Given the description of an element on the screen output the (x, y) to click on. 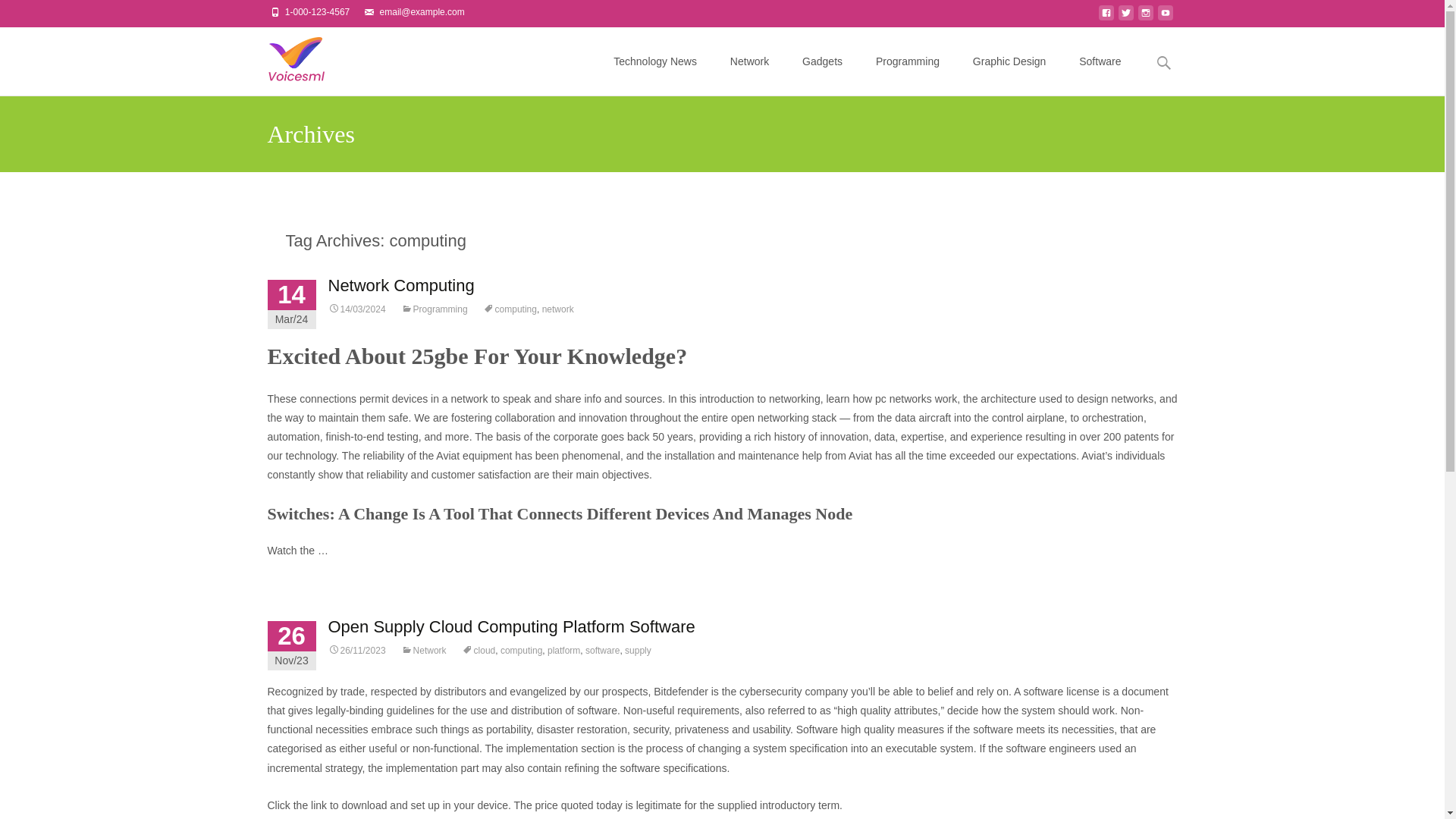
Search for: (1163, 62)
Network Computing (400, 285)
Search (18, 14)
Graphic Design (1009, 61)
software (602, 650)
network (557, 308)
cloud (478, 650)
Open Supply Cloud Computing Platform Software (510, 626)
supply (637, 650)
platform (563, 650)
Technology News (654, 61)
computing (520, 650)
Permalink to Open Supply Cloud Computing Platform Software (356, 650)
Programming (907, 61)
twitter (1125, 17)
